Given the description of an element on the screen output the (x, y) to click on. 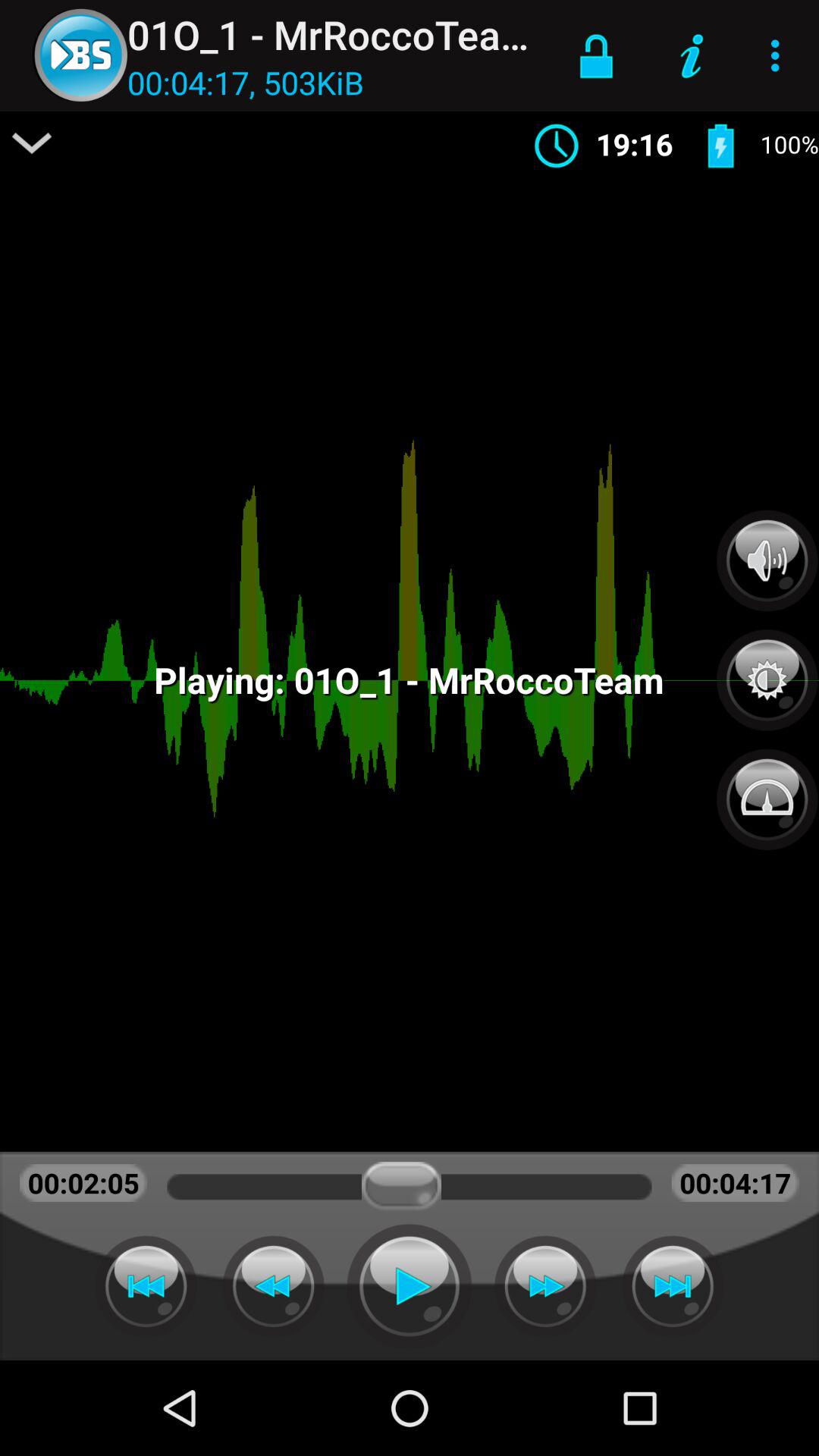
open icon next to the 00 04 17 item (31, 143)
